Given the description of an element on the screen output the (x, y) to click on. 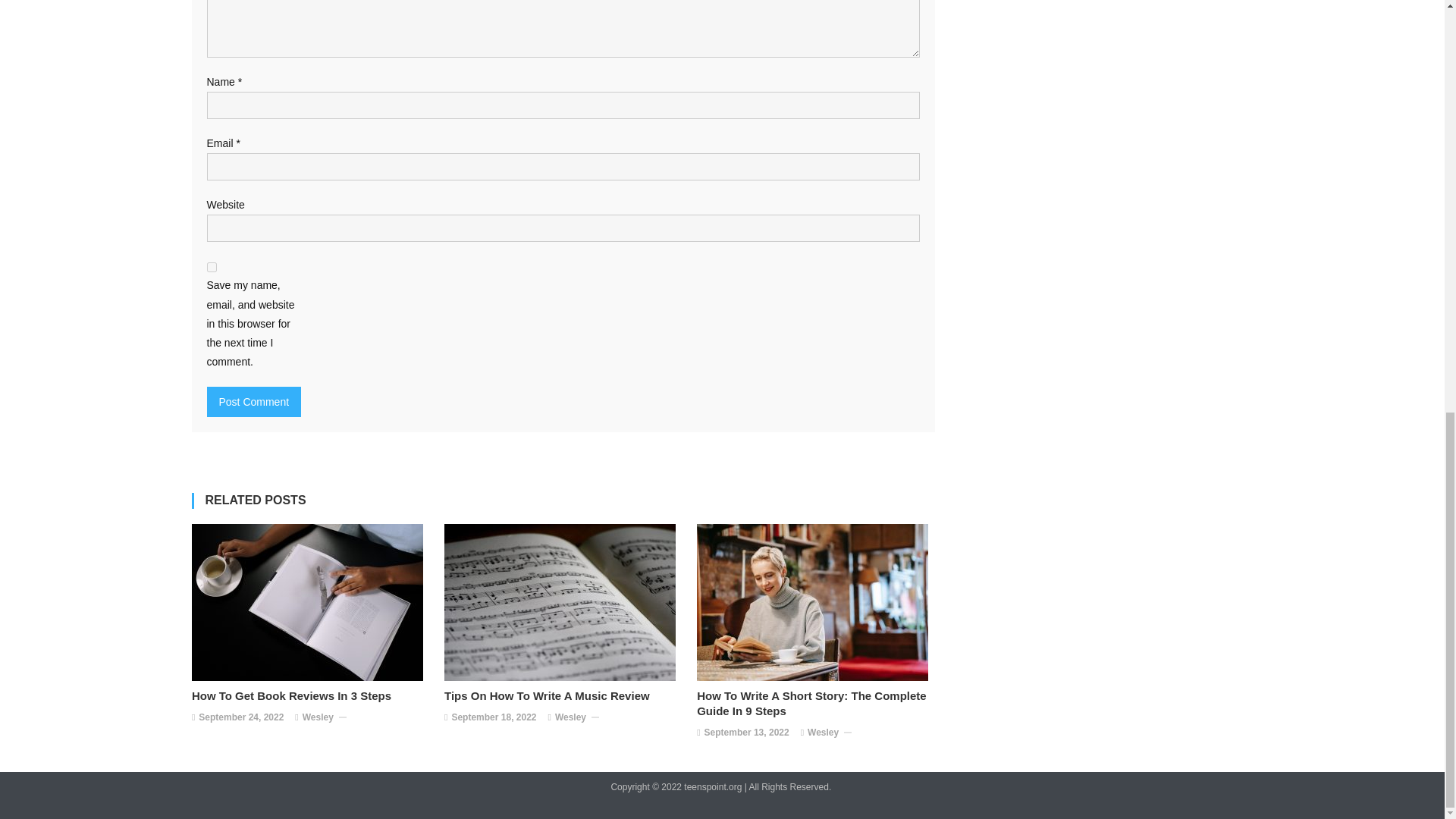
Post Comment (253, 401)
September 18, 2022 (493, 718)
Wesley (570, 718)
How To Get Book Reviews In 3 Steps (310, 695)
Wesley (317, 718)
yes (210, 266)
How To Write A Short Story: The Complete Guide In 9 Steps (815, 703)
Post Comment (253, 401)
Tips On How To Write A Music Review (562, 695)
September 13, 2022 (746, 733)
